Given the description of an element on the screen output the (x, y) to click on. 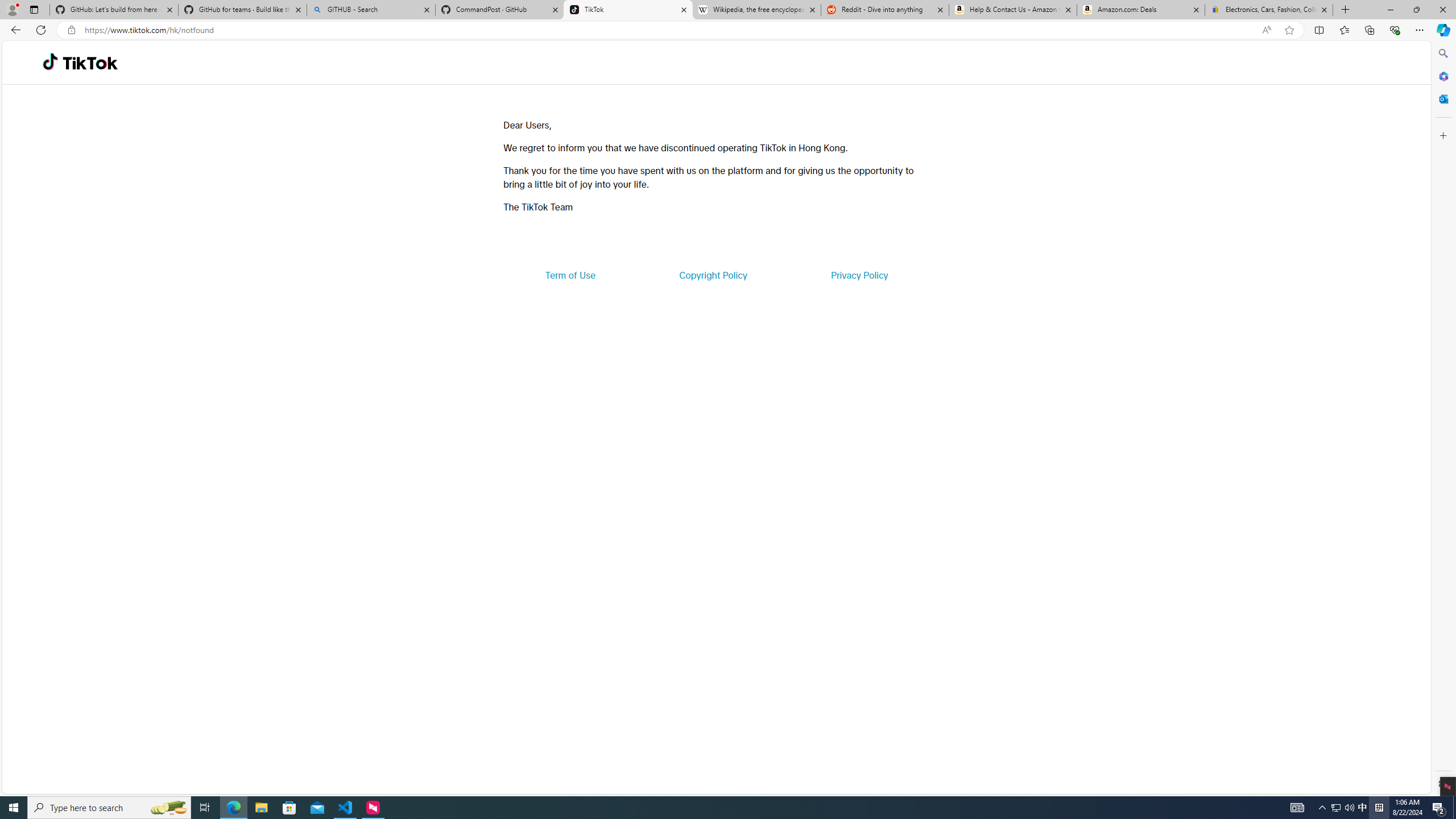
Side bar (1443, 418)
Split screen (1318, 29)
Close tab (1324, 9)
Collections (1369, 29)
App bar (728, 29)
Reddit - Dive into anything (884, 9)
Customize (1442, 135)
Minimize (1390, 9)
Privacy Policy (858, 274)
Browser essentials (1394, 29)
Address and search bar (669, 29)
TikTok (628, 9)
